Given the description of an element on the screen output the (x, y) to click on. 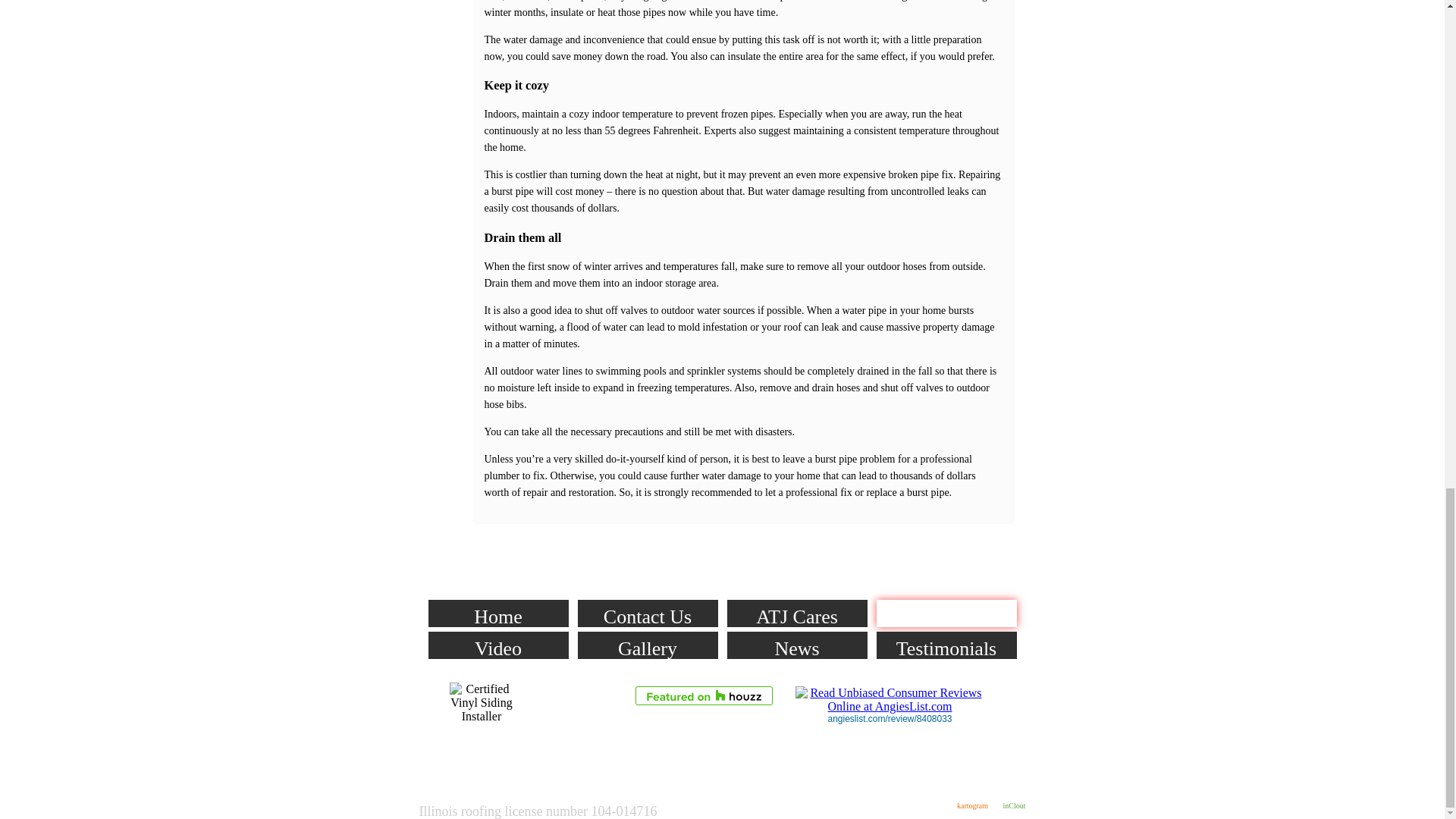
Video (497, 645)
Contact Us (647, 613)
Gallery (647, 645)
ATJ Cares (796, 613)
Home (497, 613)
News (796, 645)
